Given the description of an element on the screen output the (x, y) to click on. 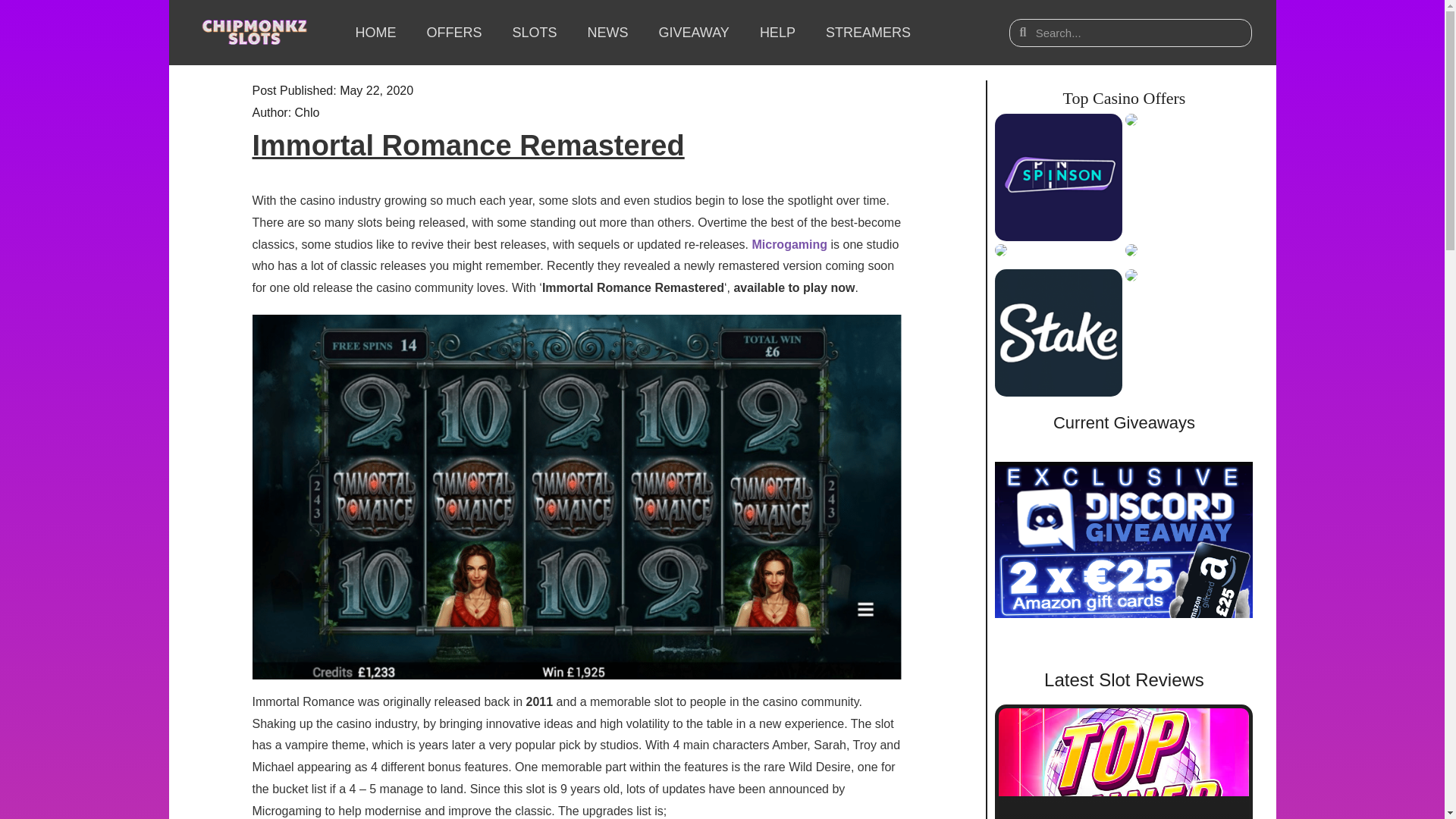
OFFERS (453, 32)
STREAMERS (868, 32)
SLOTS (534, 32)
NEWS (607, 32)
HELP (777, 32)
HOME (374, 32)
GIVEAWAY (693, 32)
